Given the description of an element on the screen output the (x, y) to click on. 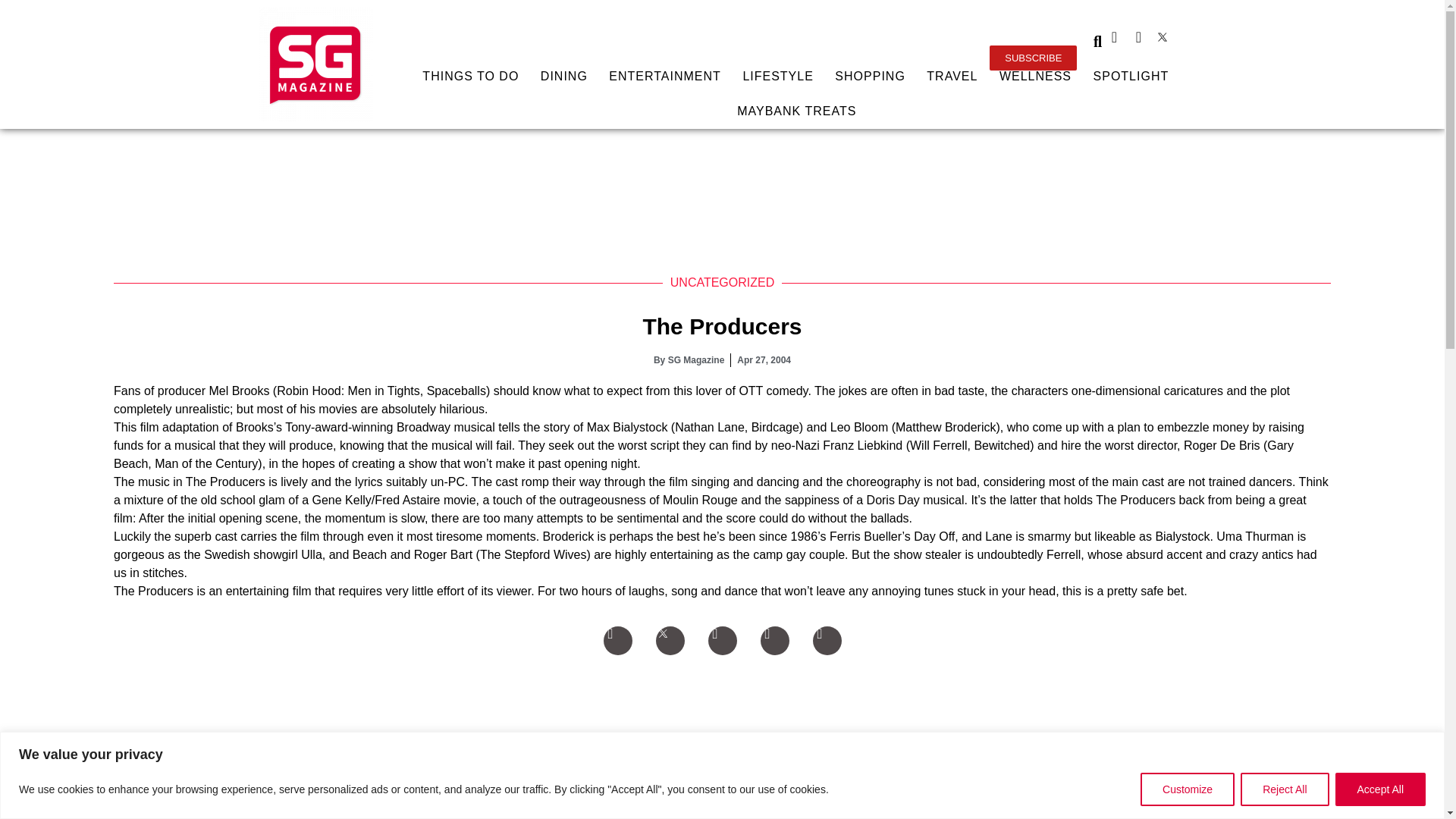
Reject All (1283, 788)
Customize (1187, 788)
WELLNESS (1035, 76)
LIFESTYLE (778, 76)
THINGS TO DO (470, 76)
DINING (563, 76)
TRAVEL (952, 76)
SG MAG LOGO (315, 64)
MAYBANK TREATS (796, 111)
SHOPPING (870, 76)
Accept All (1380, 788)
SUBSCRIBE (1033, 57)
SPOTLIGHT (1130, 76)
ENTERTAINMENT (664, 76)
